Given the description of an element on the screen output the (x, y) to click on. 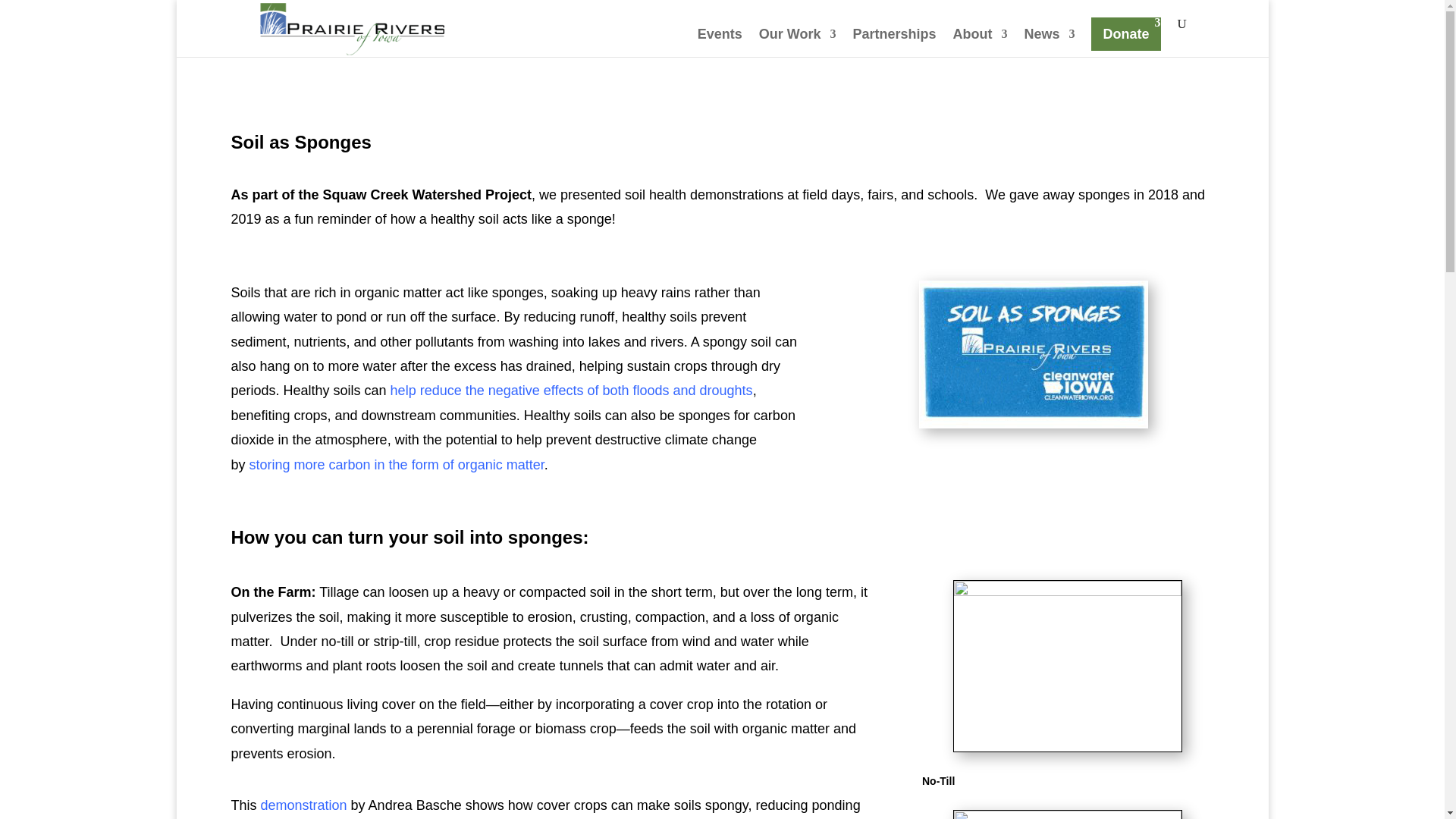
Our Work (796, 42)
News (1048, 42)
About (979, 42)
justsponge-300x193 (1033, 354)
Donate (1125, 33)
Partnerships (893, 42)
notill-300x225 (1066, 665)
demonstration (303, 805)
Events (719, 42)
storing more carbon in the form of organic matter (396, 464)
